Given the description of an element on the screen output the (x, y) to click on. 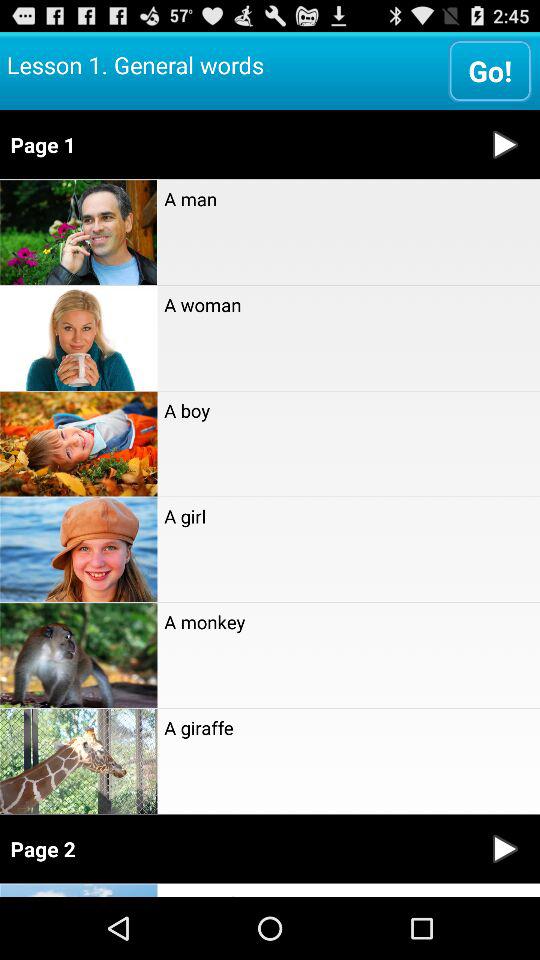
select a man item (348, 199)
